Given the description of an element on the screen output the (x, y) to click on. 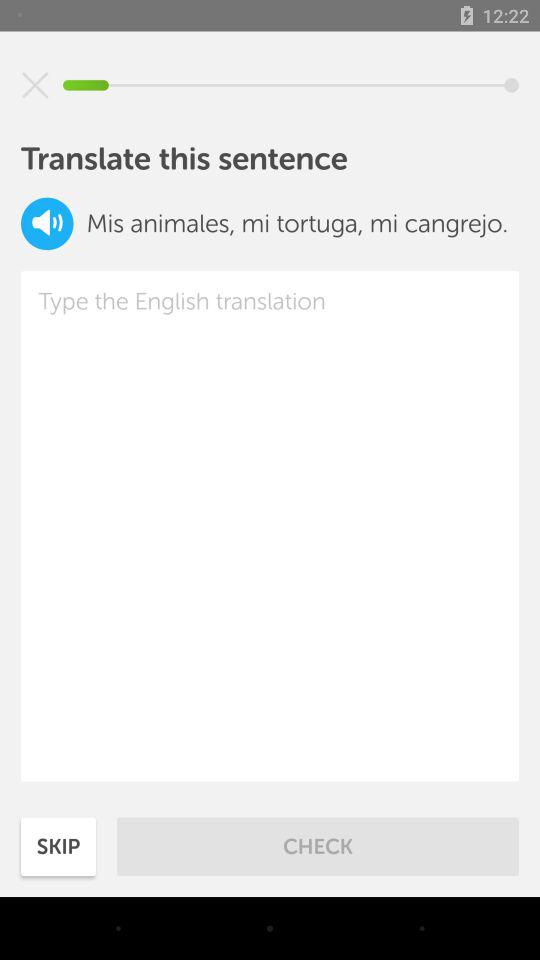
stop the audio that is translating this sentence (35, 85)
